Given the description of an element on the screen output the (x, y) to click on. 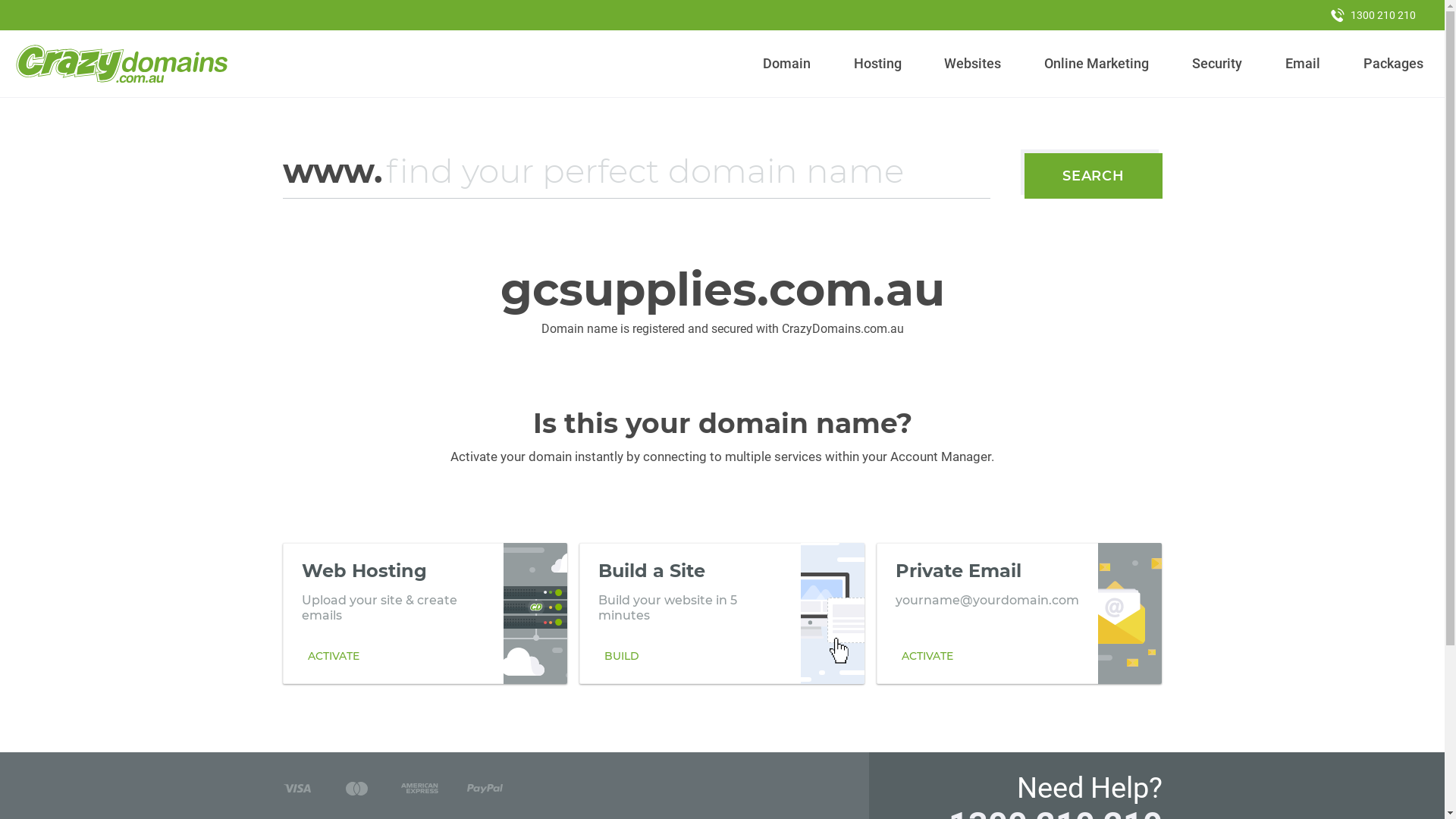
Packages Element type: text (1392, 63)
Private Email
yourname@yourdomain.com
ACTIVATE Element type: text (1018, 613)
Websites Element type: text (972, 63)
Security Element type: text (1217, 63)
Domain Element type: text (786, 63)
Online Marketing Element type: text (1096, 63)
Email Element type: text (1302, 63)
1300 210 210 Element type: text (1373, 15)
Hosting Element type: text (877, 63)
Web Hosting
Upload your site & create emails
ACTIVATE Element type: text (424, 613)
Build a Site
Build your website in 5 minutes
BUILD Element type: text (721, 613)
SEARCH Element type: text (1092, 175)
